Given the description of an element on the screen output the (x, y) to click on. 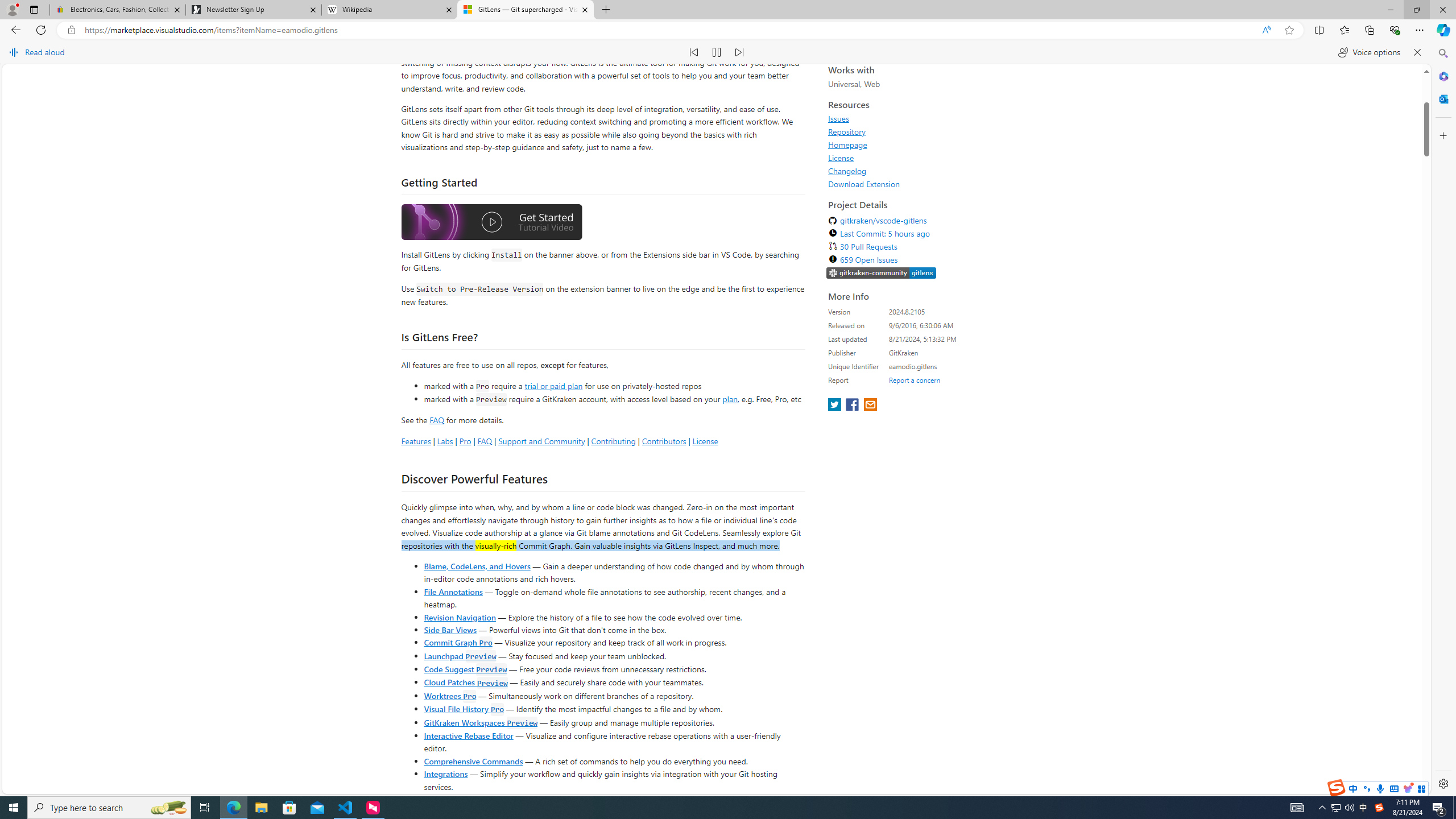
share extension on facebook (853, 592)
Voice options (1369, 52)
Repository (847, 317)
plan (730, 585)
Install (515, 75)
